Given the description of an element on the screen output the (x, y) to click on. 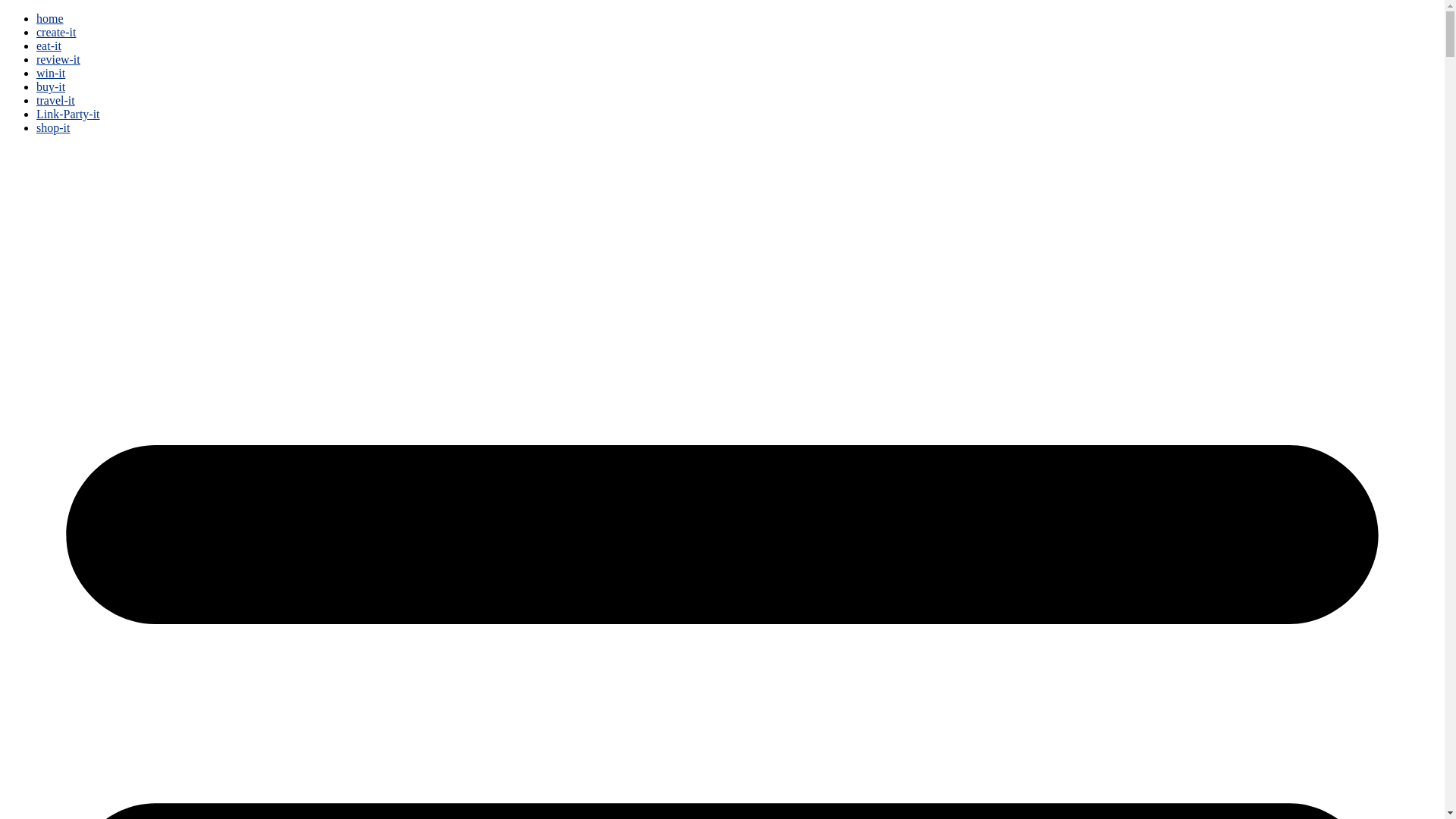
win-it (50, 72)
shop-it (52, 127)
buy-it (50, 86)
home (50, 18)
eat-it (48, 45)
Link-Party-it (68, 113)
create-it (55, 31)
review-it (58, 59)
travel-it (55, 100)
